Given the description of an element on the screen output the (x, y) to click on. 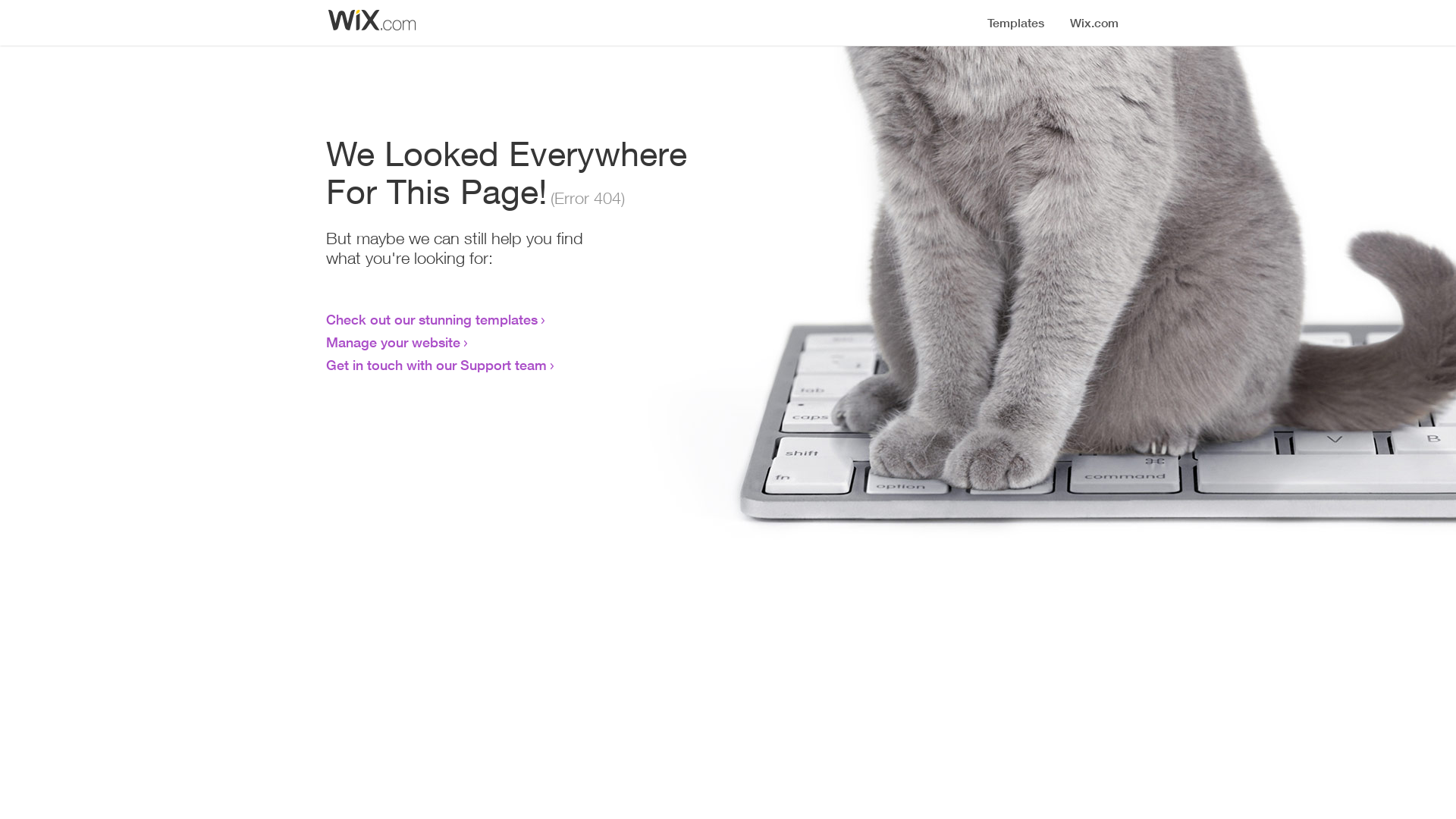
Check out our stunning templates Element type: text (431, 318)
Get in touch with our Support team Element type: text (436, 364)
Manage your website Element type: text (393, 341)
